Given the description of an element on the screen output the (x, y) to click on. 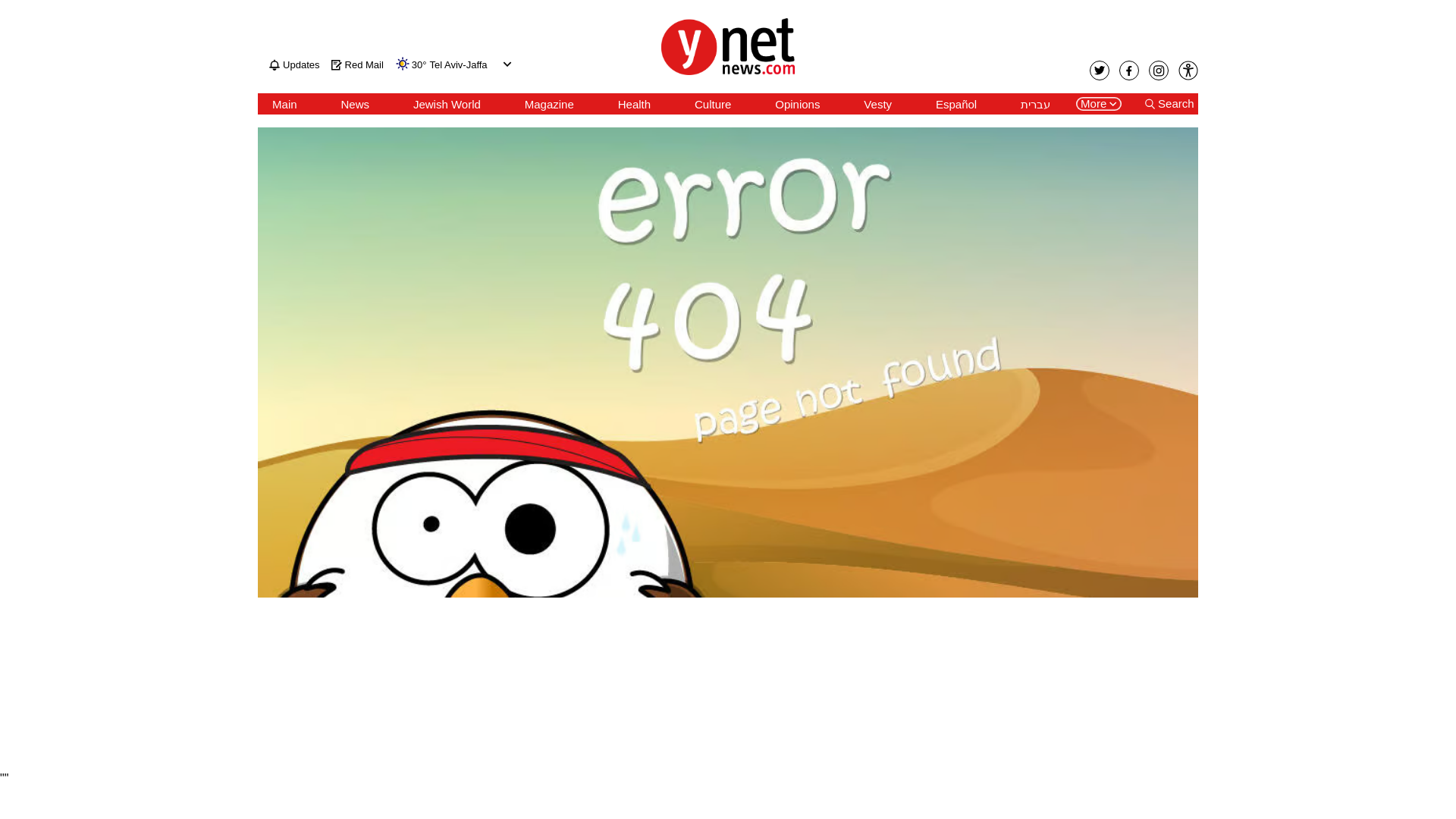
Updates (293, 64)
Tel Aviv-Jaffa (457, 65)
Culture (712, 103)
Red Mail (357, 64)
Jewish World (446, 103)
Vesty (877, 103)
News (354, 103)
Health (633, 103)
Opinions (796, 103)
Magazine (548, 103)
